Given the description of an element on the screen output the (x, y) to click on. 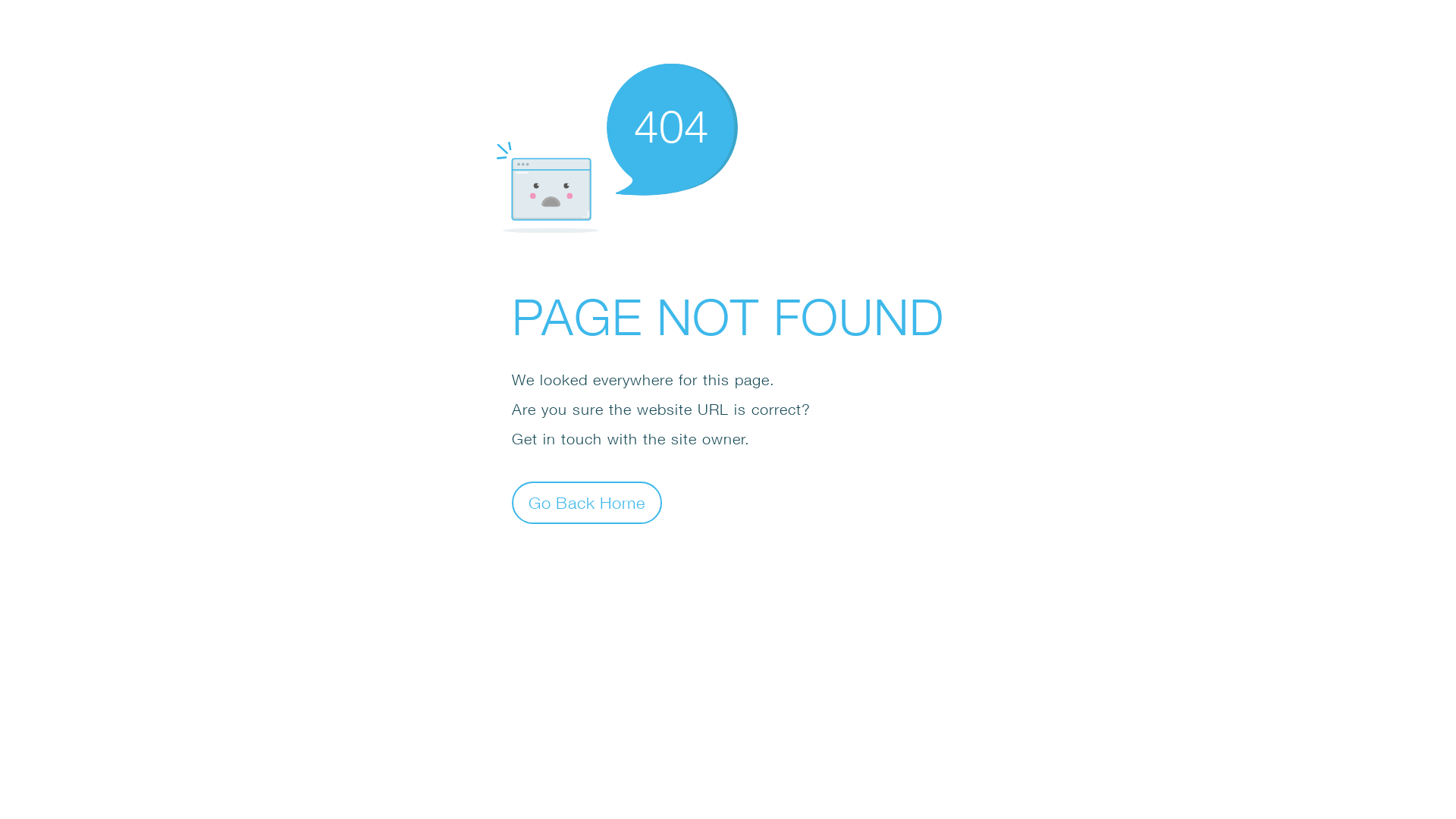
Go Back Home Element type: text (586, 502)
